Given the description of an element on the screen output the (x, y) to click on. 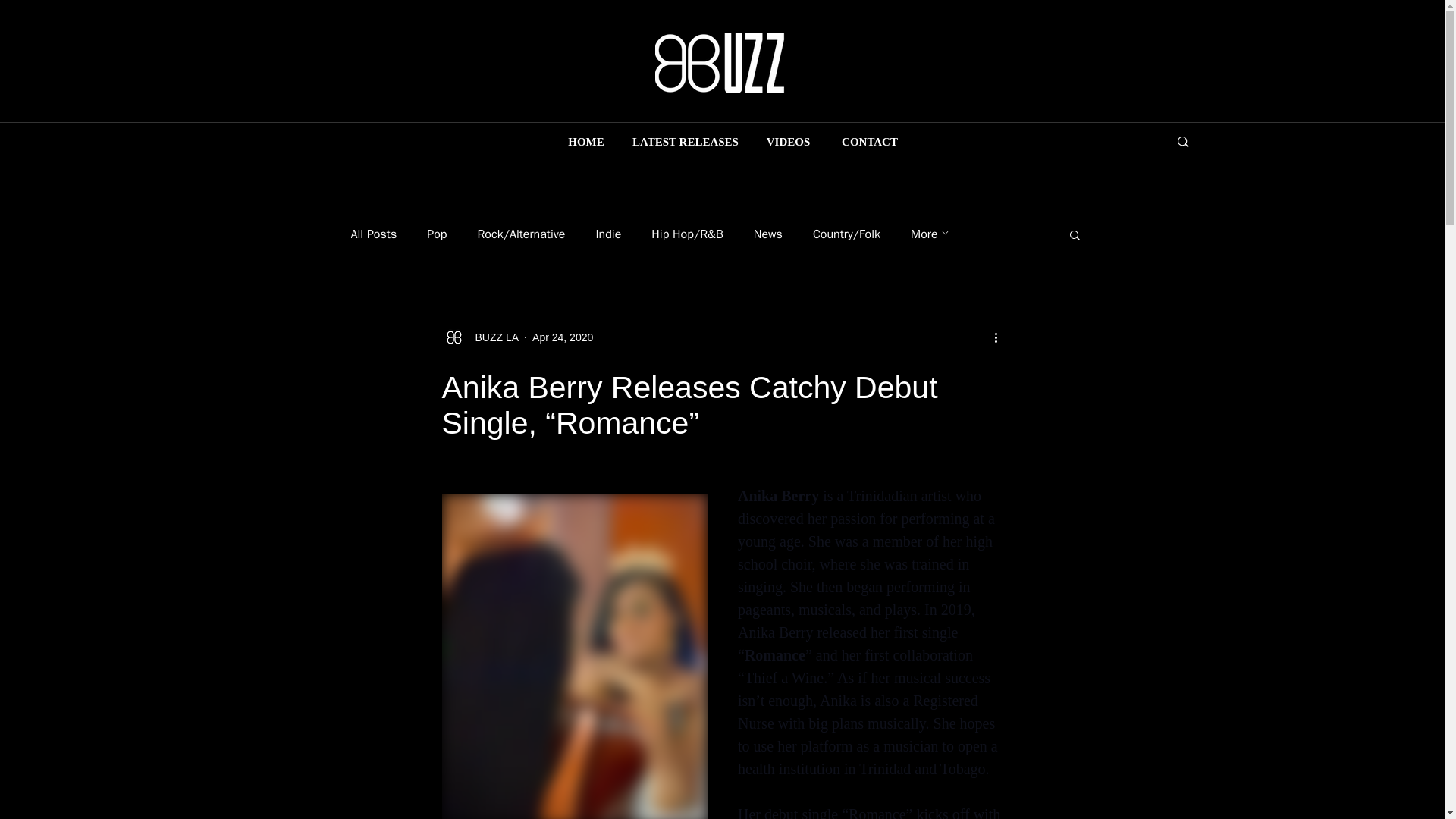
VIDEOS (788, 141)
News (768, 233)
All Posts (373, 233)
Pop (436, 233)
Indie (608, 233)
CONTACT (869, 141)
BUZZ LA (491, 336)
HOME (585, 141)
LATEST RELEASES (685, 141)
BUZZ LA (479, 337)
